Given the description of an element on the screen output the (x, y) to click on. 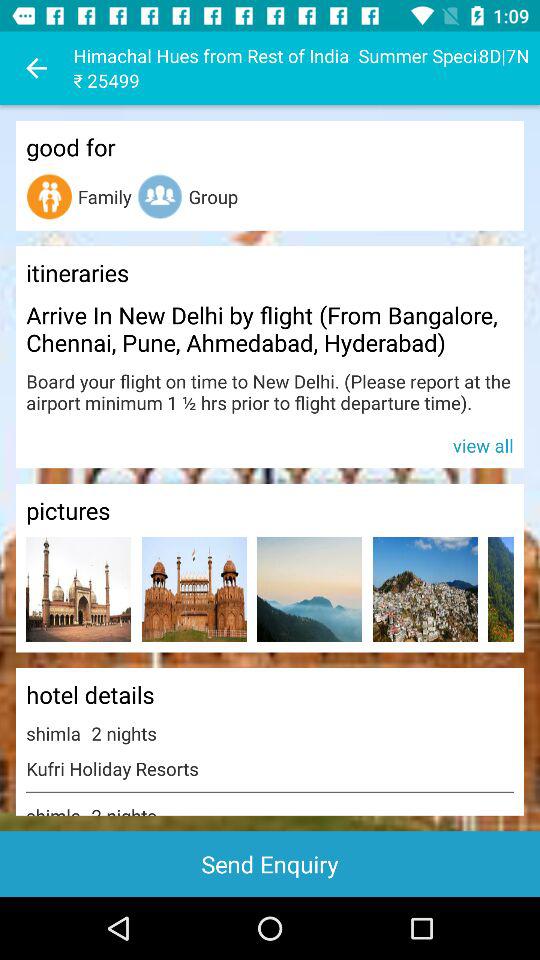
select picture (309, 589)
